Given the description of an element on the screen output the (x, y) to click on. 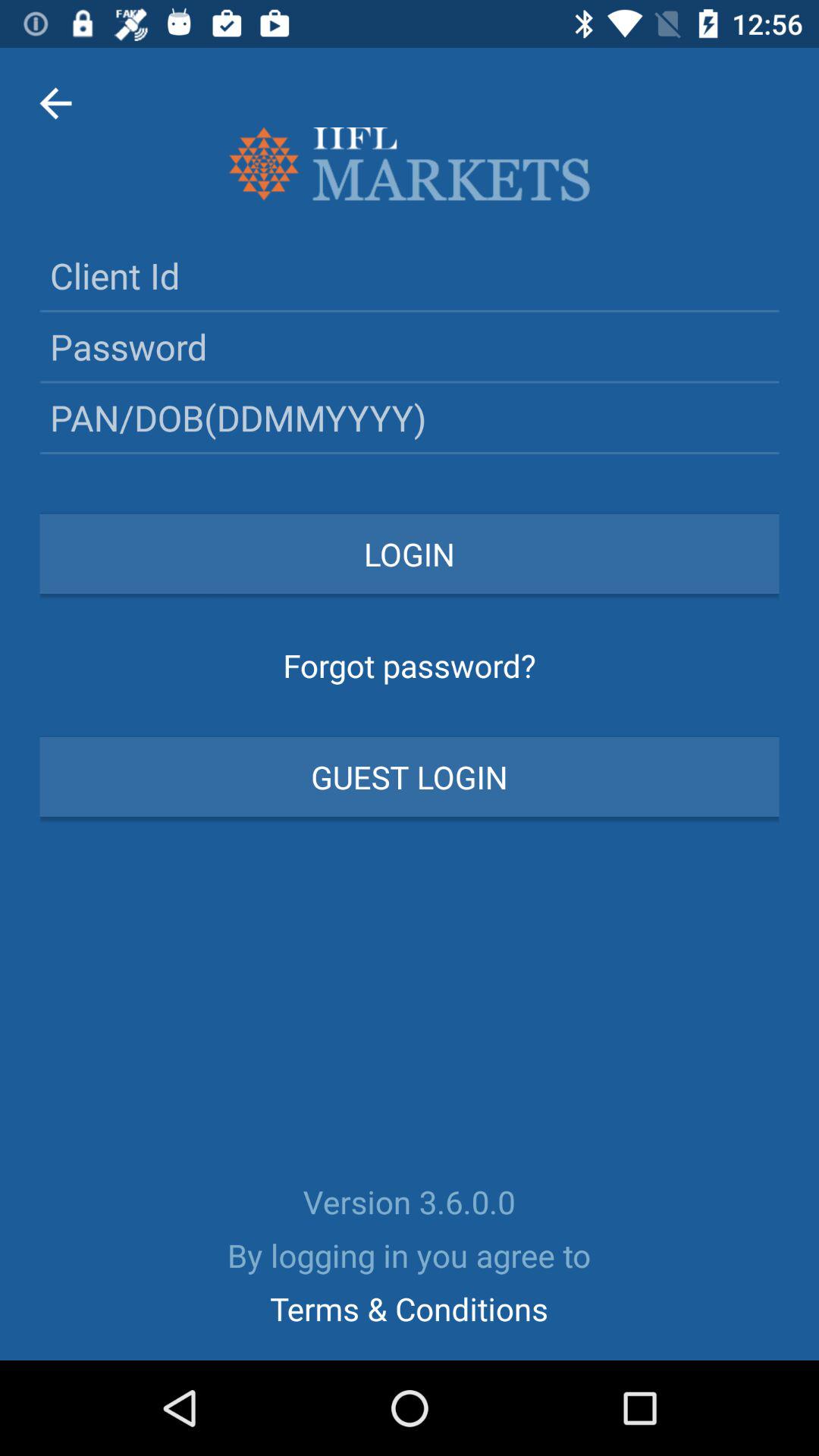
input your password (409, 346)
